Given the description of an element on the screen output the (x, y) to click on. 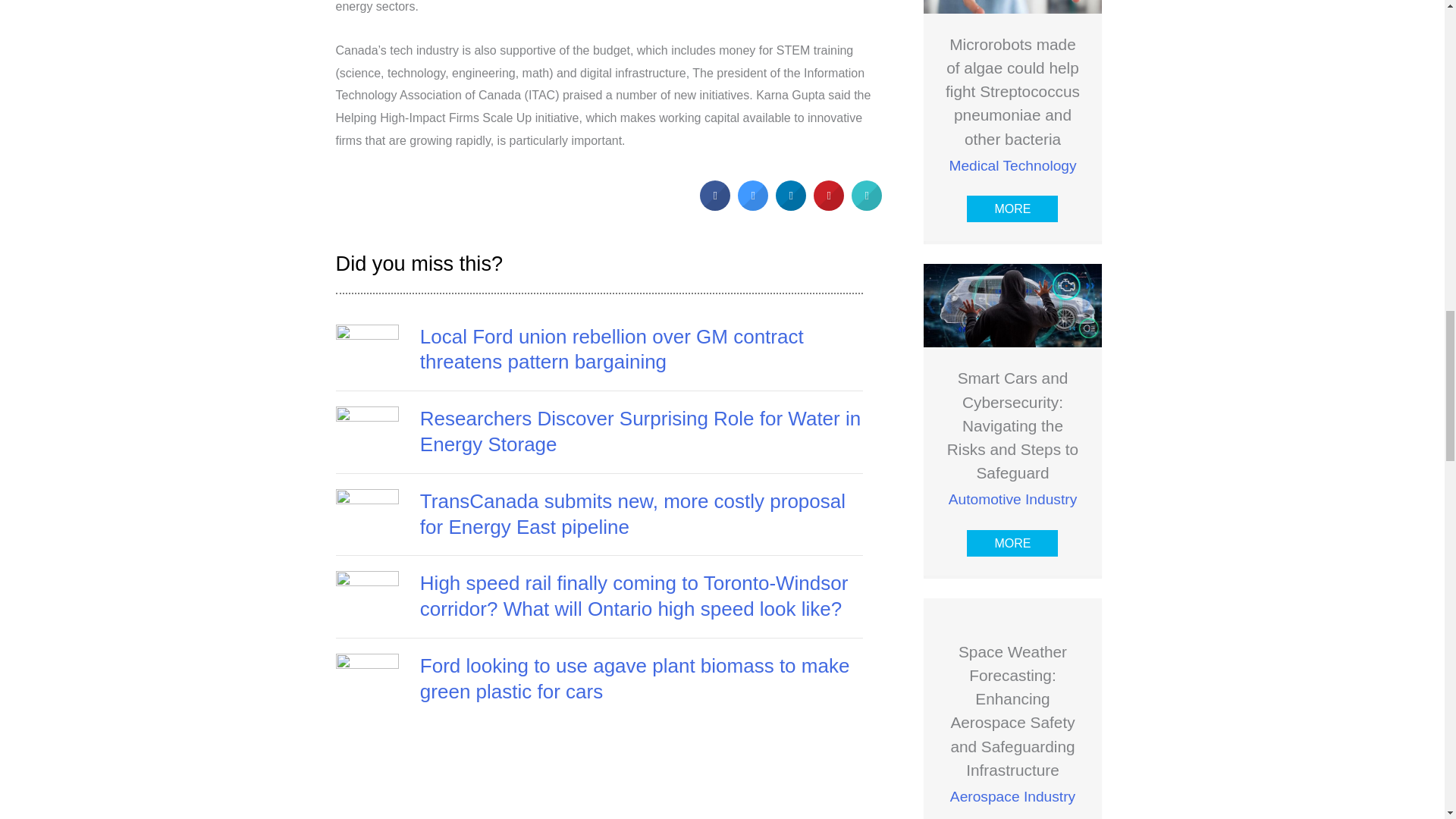
Share on Pinterest (828, 205)
Share to LinkedIn (791, 205)
Share on Facebook (715, 205)
Print this page (866, 205)
